Given the description of an element on the screen output the (x, y) to click on. 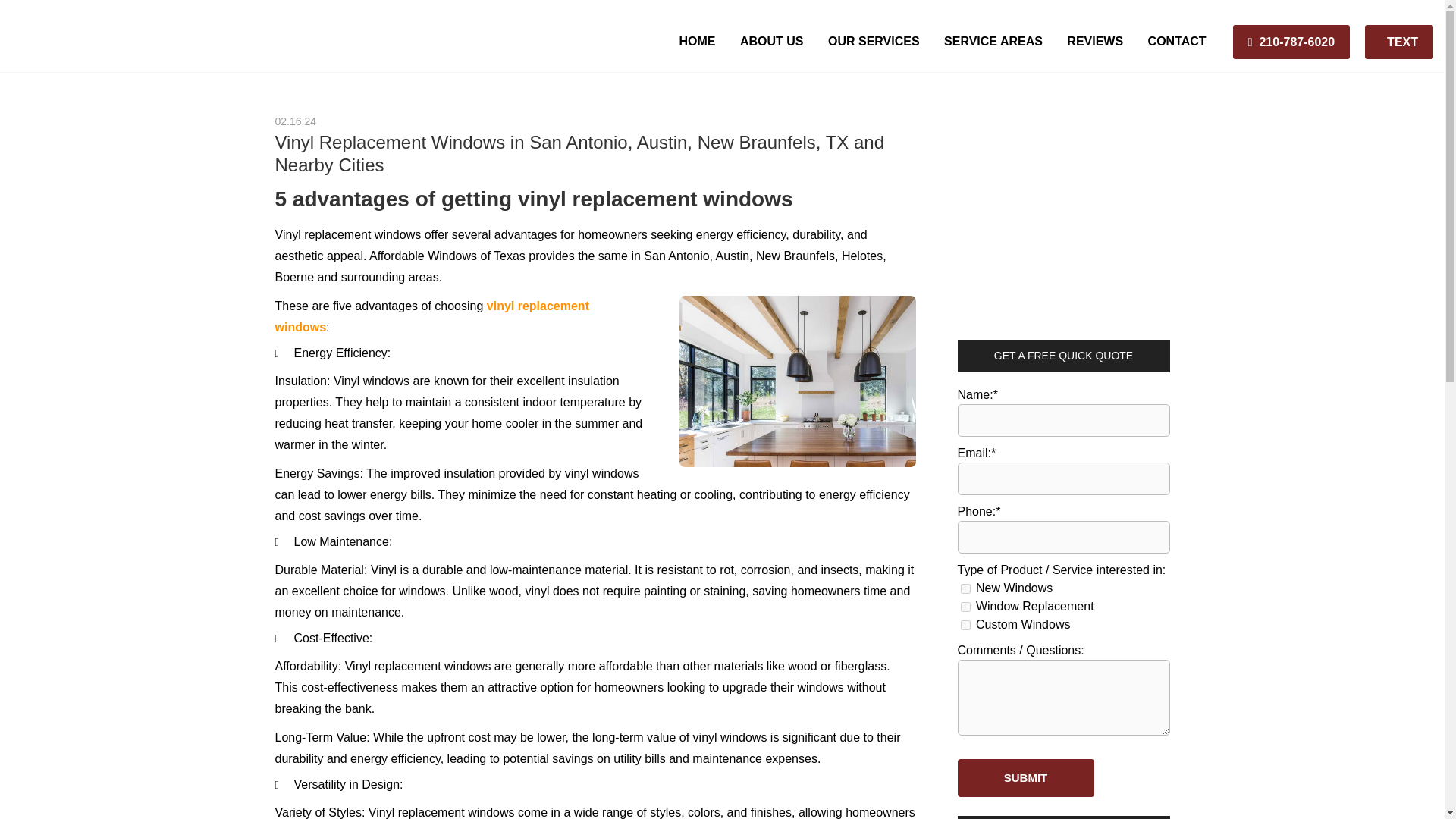
Submit (1024, 777)
Window Replacement (964, 606)
Custom Windows (964, 624)
vinyl replacement windows (431, 316)
Submit (1024, 777)
SERVICE AREAS (992, 41)
REVIEWS (1095, 41)
210-787-6020 (1291, 41)
ABOUT US (771, 41)
New Windows (964, 588)
